Given the description of an element on the screen output the (x, y) to click on. 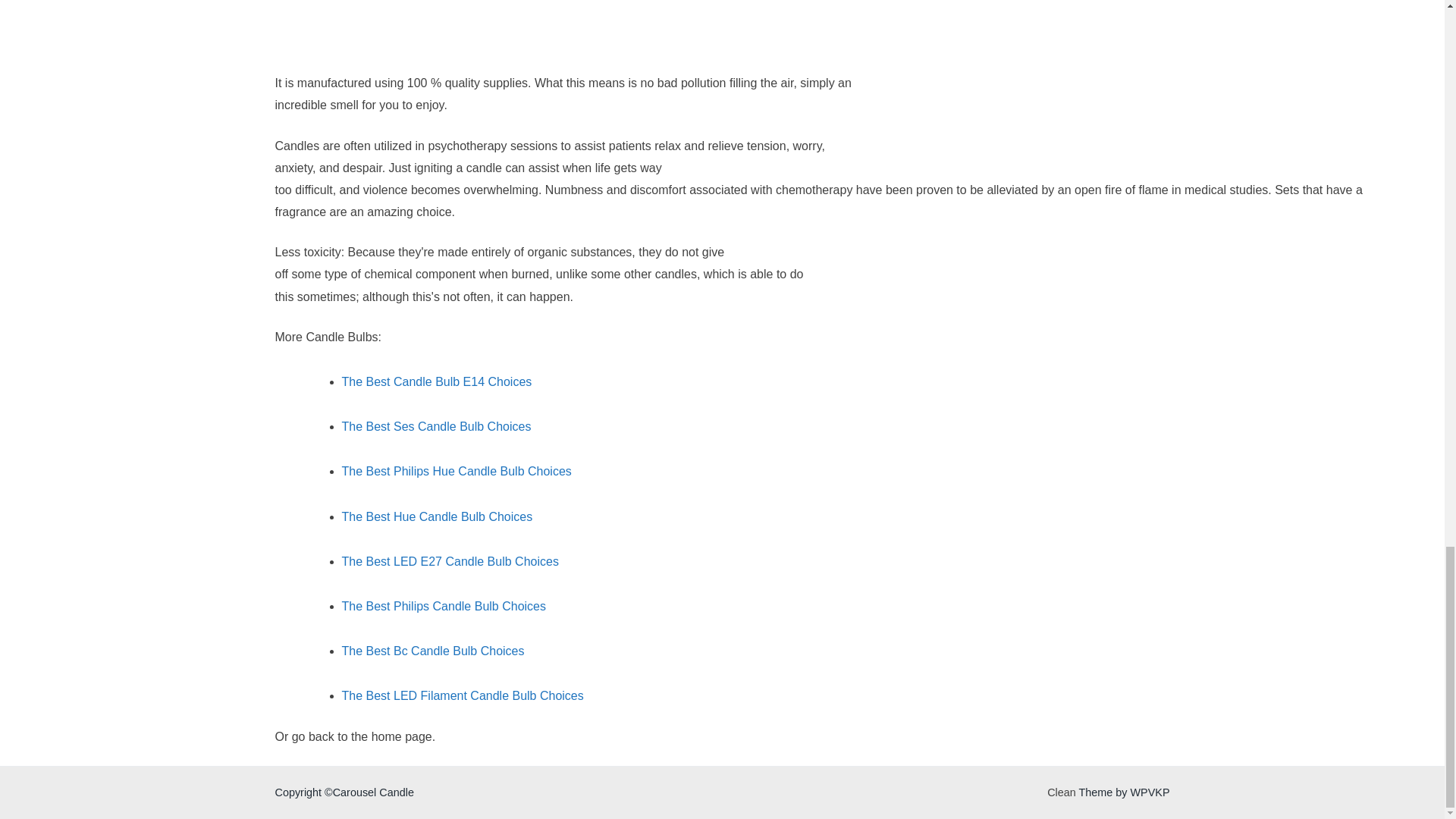
The Best LED E27 Candle Bulb Choices (448, 561)
The Best LED Filament Candle Bulb Choices (461, 695)
The Best Candle Bulb E14 Choices (435, 381)
The Best Ses Candle Bulb Choices (435, 426)
Clean (1060, 792)
The Best Candle Bulb E14 Choices (435, 381)
The Best LED Filament Candle Bulb Choices (461, 695)
The Best Bc Candle Bulb Choices (432, 650)
The Best Hue Candle Bulb Choices (436, 516)
The Best LED E27 Candle Bulb Choices (448, 561)
